Given the description of an element on the screen output the (x, y) to click on. 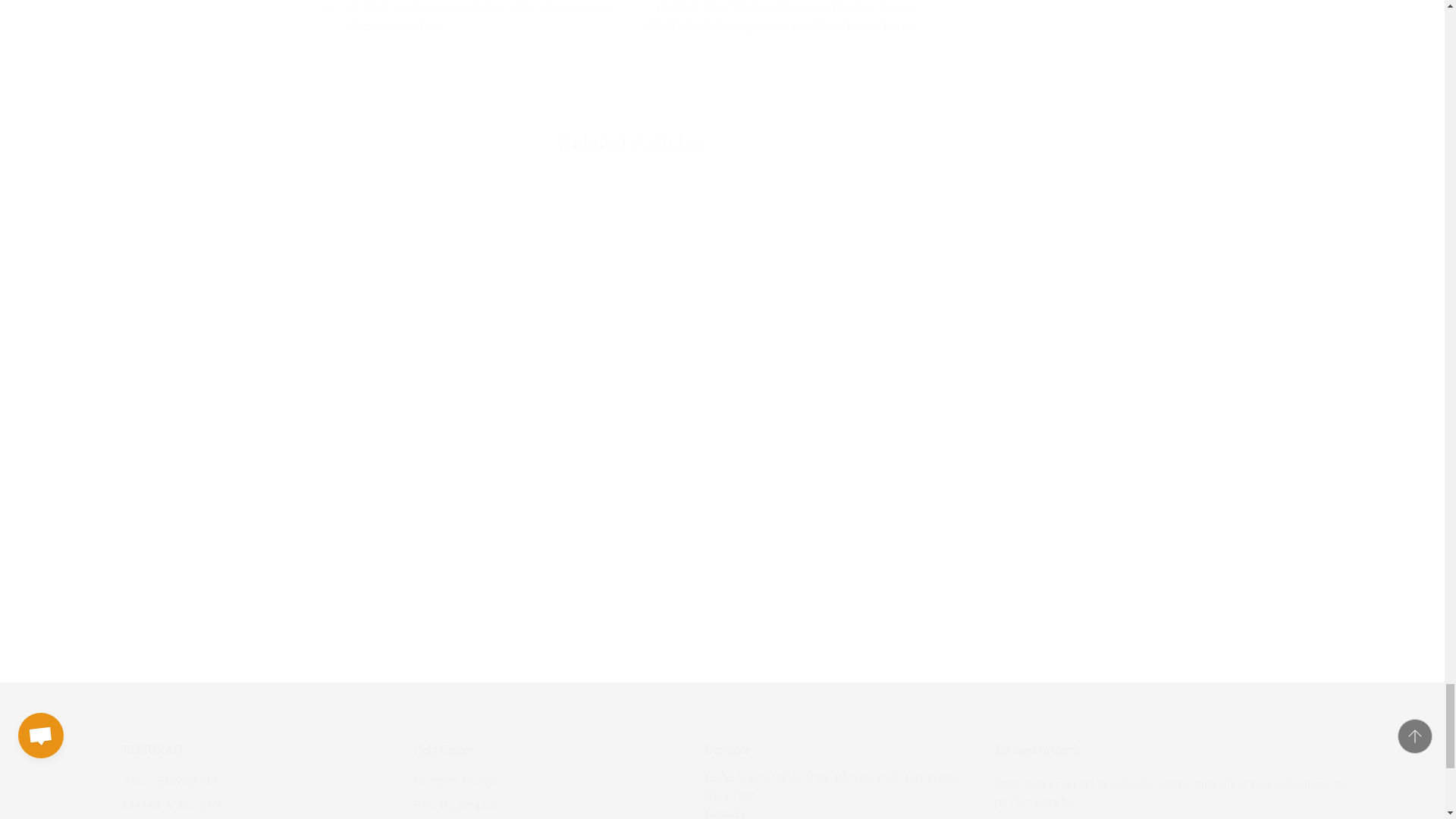
What's the Role of Torque in E-Bikes? (430, 310)
What's a Dual Battery eBike? (430, 524)
Top 5 Features to Look for When Buying a Eunorau E-Bike (644, 310)
